Given the description of an element on the screen output the (x, y) to click on. 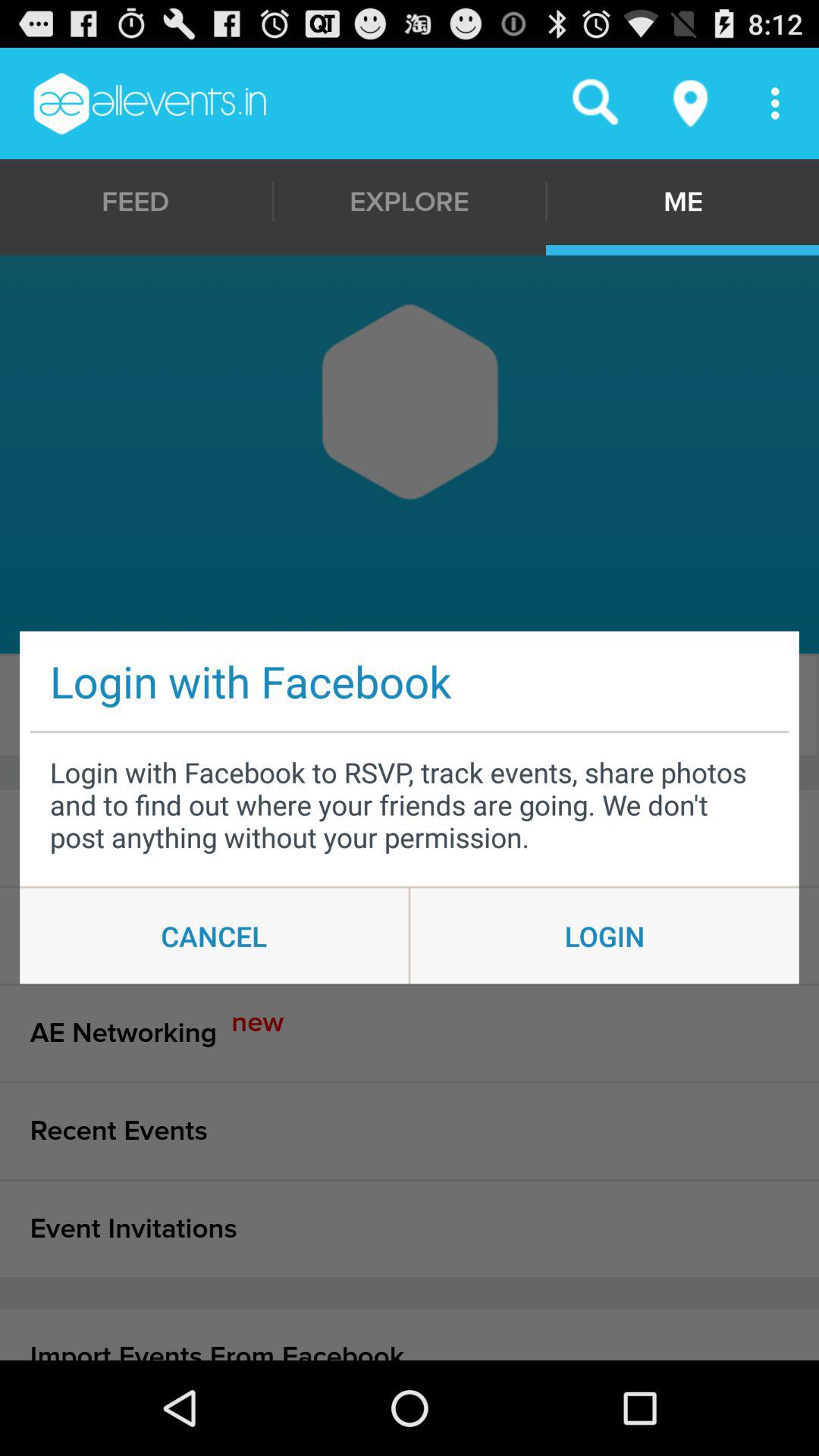
press item next to following icon (406, 705)
